Given the description of an element on the screen output the (x, y) to click on. 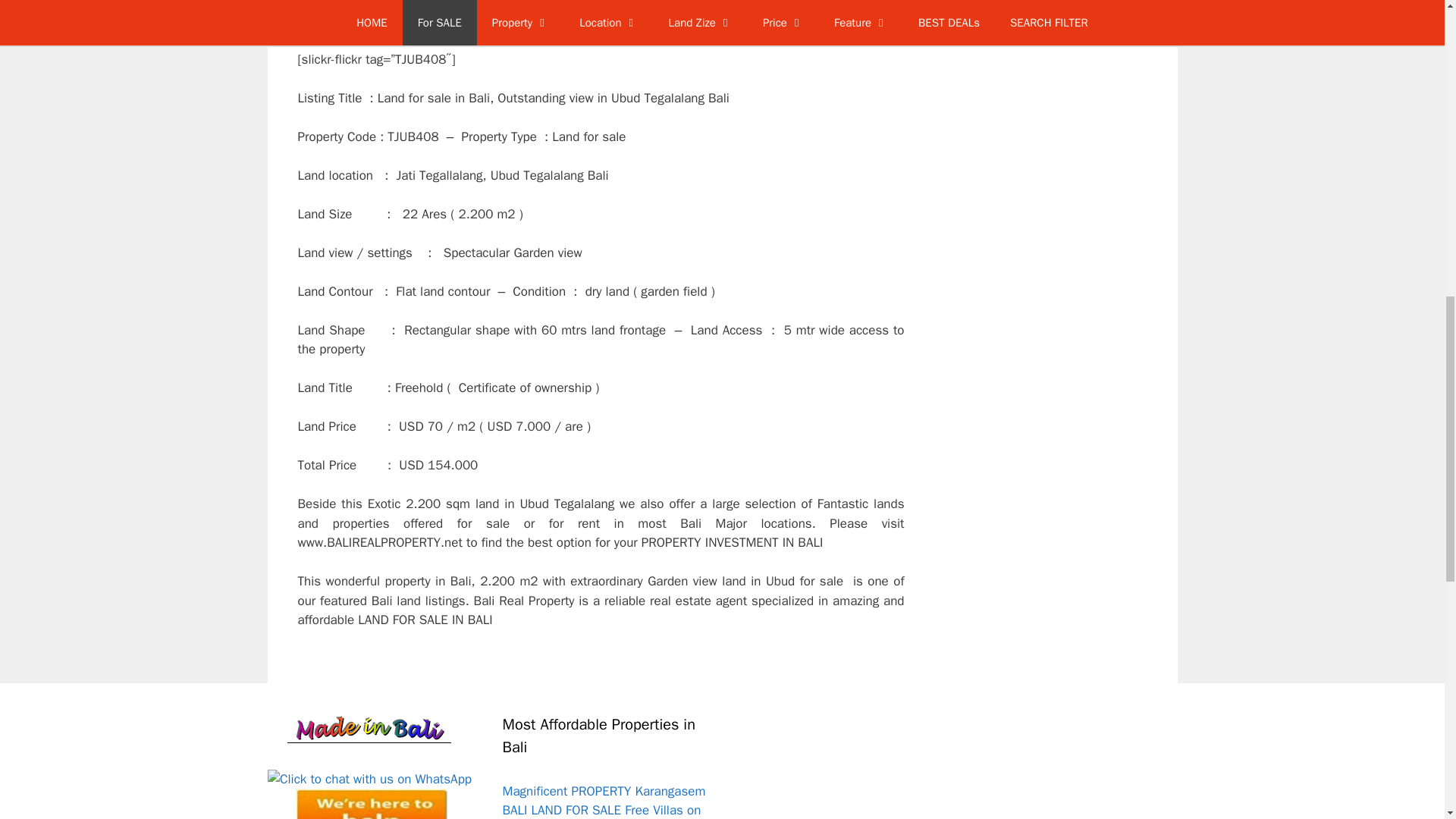
Scroll back to top (1406, 720)
